Given the description of an element on the screen output the (x, y) to click on. 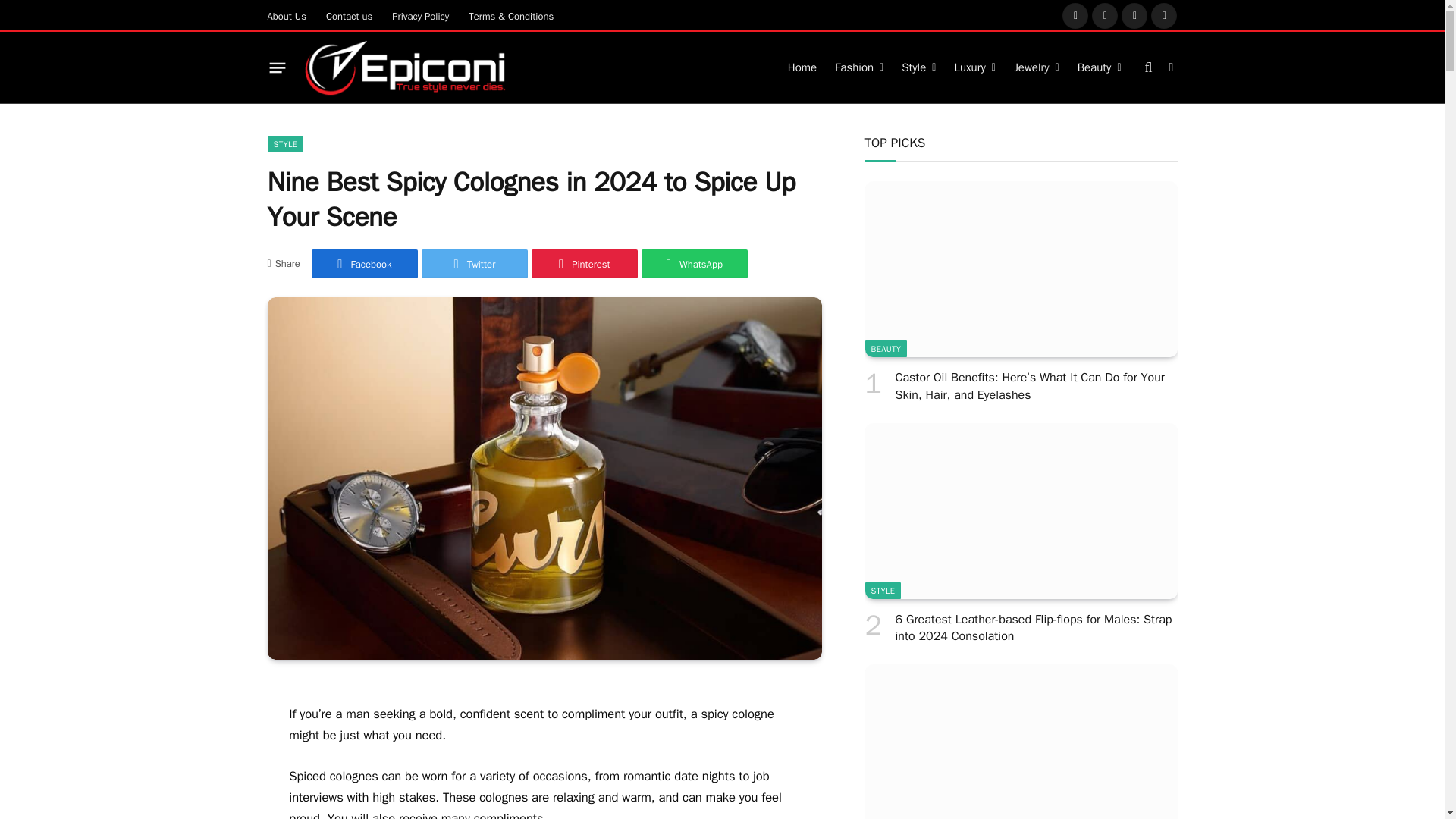
Privacy Policy (419, 15)
Pinterest (1163, 15)
Contact us (348, 15)
Epiconi (405, 67)
Twitter (1105, 15)
About Us (286, 15)
Instagram (1134, 15)
Facebook (1074, 15)
Fashion (858, 67)
